Given the description of an element on the screen output the (x, y) to click on. 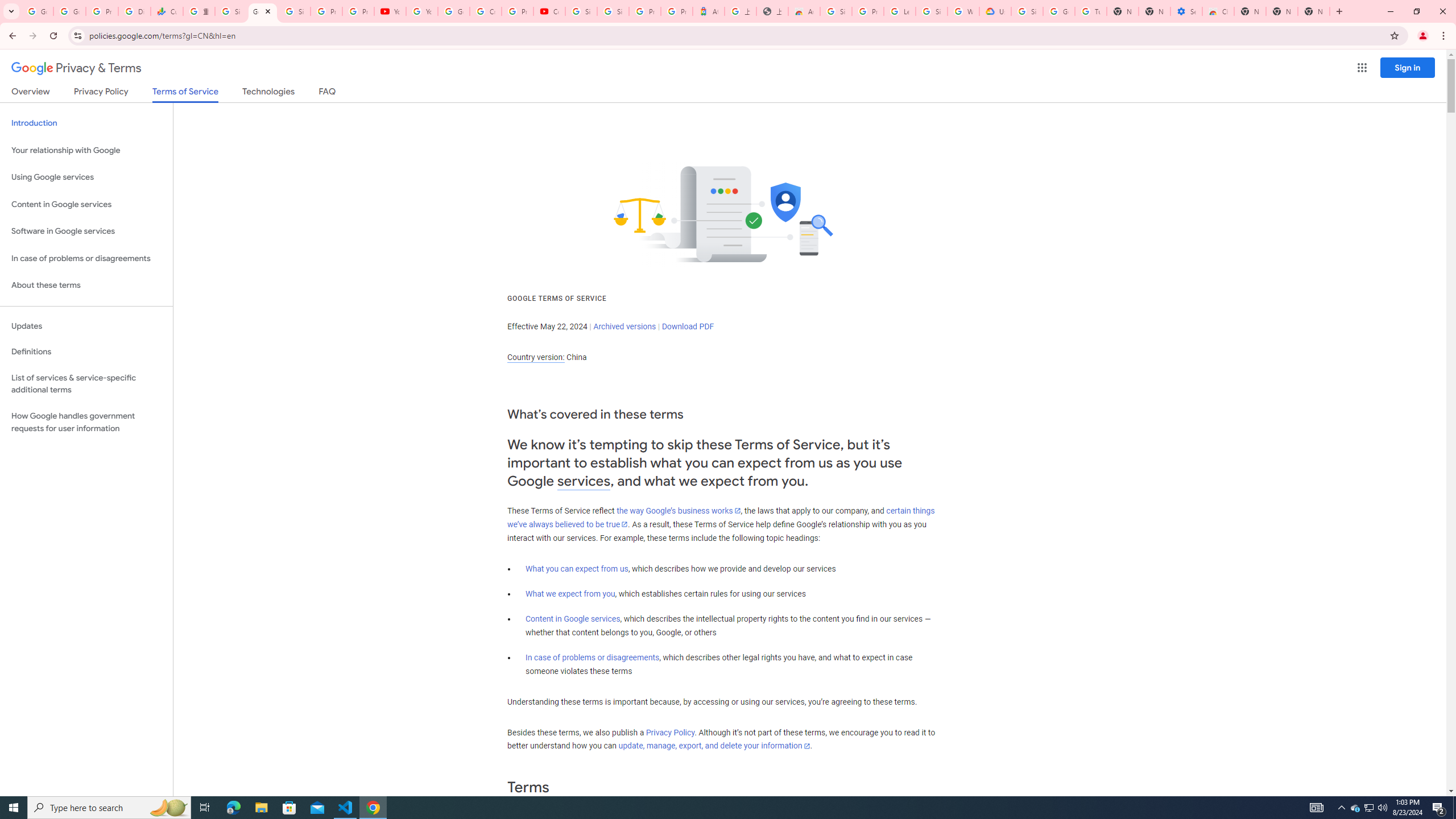
About these terms (86, 284)
Sign in - Google Accounts (1027, 11)
Atour Hotel - Google hotels (708, 11)
YouTube (421, 11)
Privacy Policy (669, 732)
What we expect from you (570, 593)
update, manage, export, and delete your information (714, 746)
